Given the description of an element on the screen output the (x, y) to click on. 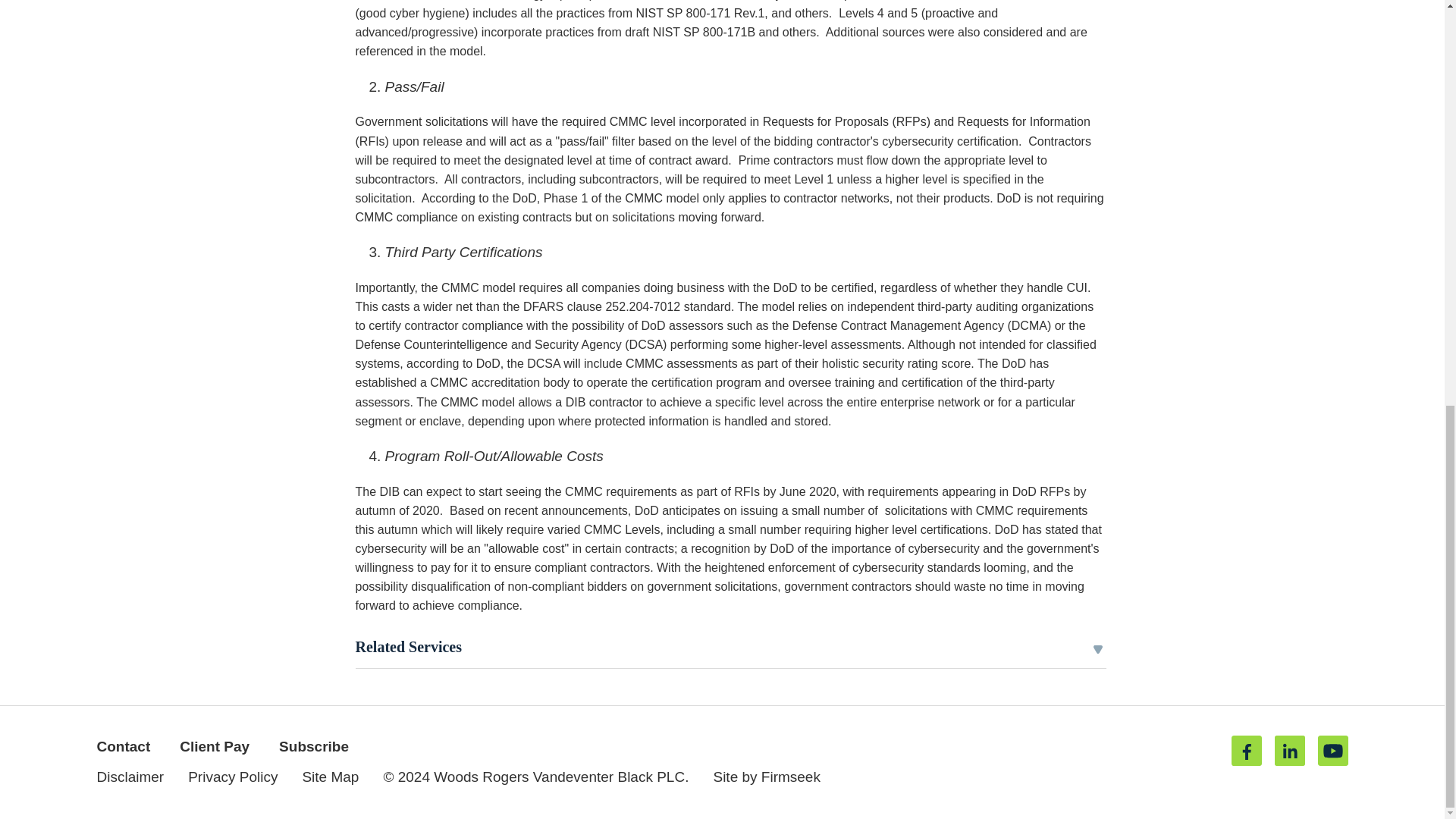
Jump to Page (673, 718)
Site by Firmseek (766, 776)
Privacy Policy (232, 776)
Contact (124, 746)
Client Pay (213, 746)
Disclaimer (130, 776)
Youtube (1332, 750)
Site Map (329, 776)
Linkedin (1289, 750)
Subscribe (314, 746)
Related Services (730, 647)
Facebook (1246, 750)
